Given the description of an element on the screen output the (x, y) to click on. 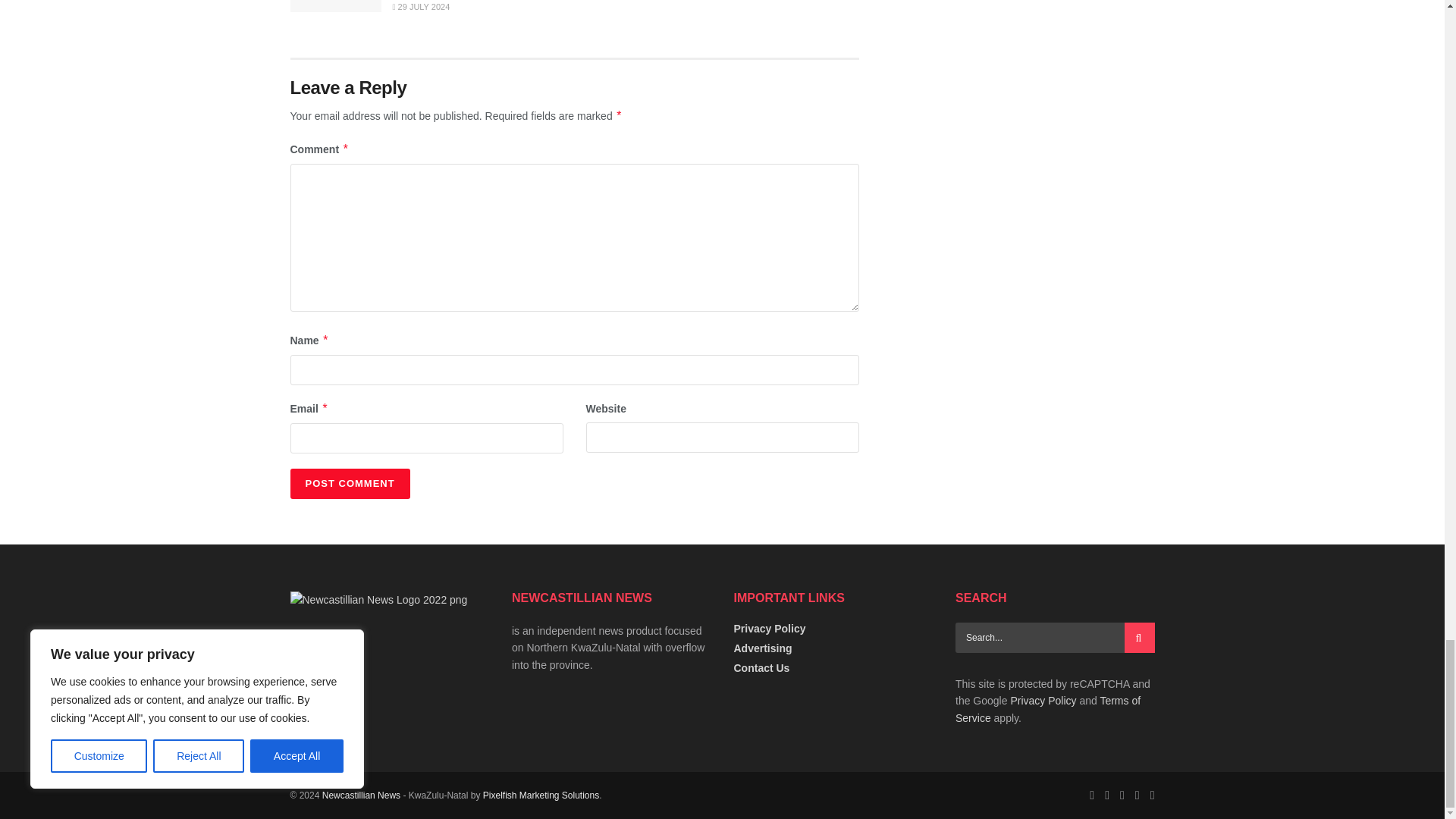
Post Comment (349, 483)
Newcastillian News (360, 795)
Pixelfish Marketing Solutions (540, 795)
